Given the description of an element on the screen output the (x, y) to click on. 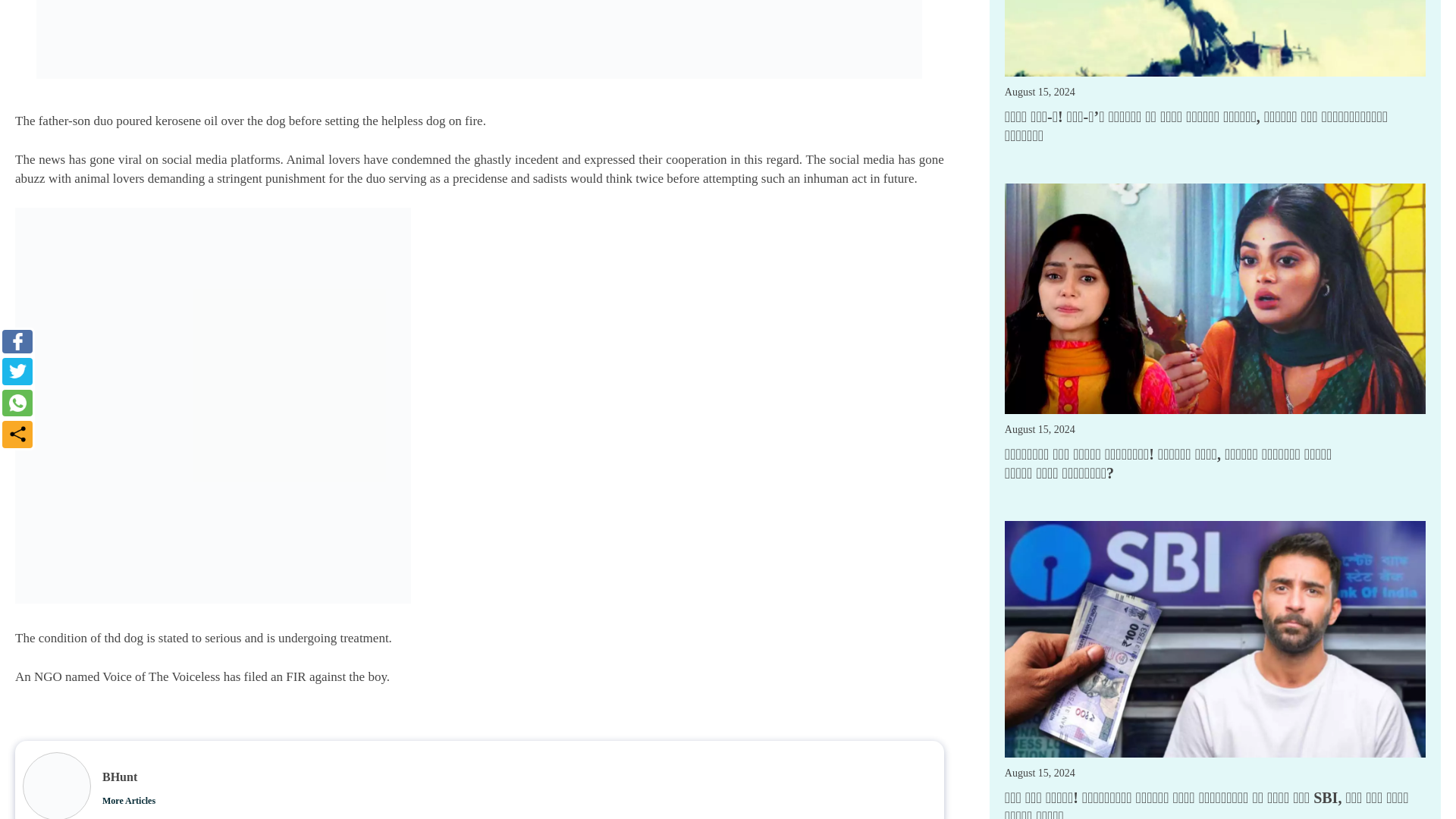
More Articles (128, 800)
ad image (478, 39)
more from this author (128, 800)
